Given the description of an element on the screen output the (x, y) to click on. 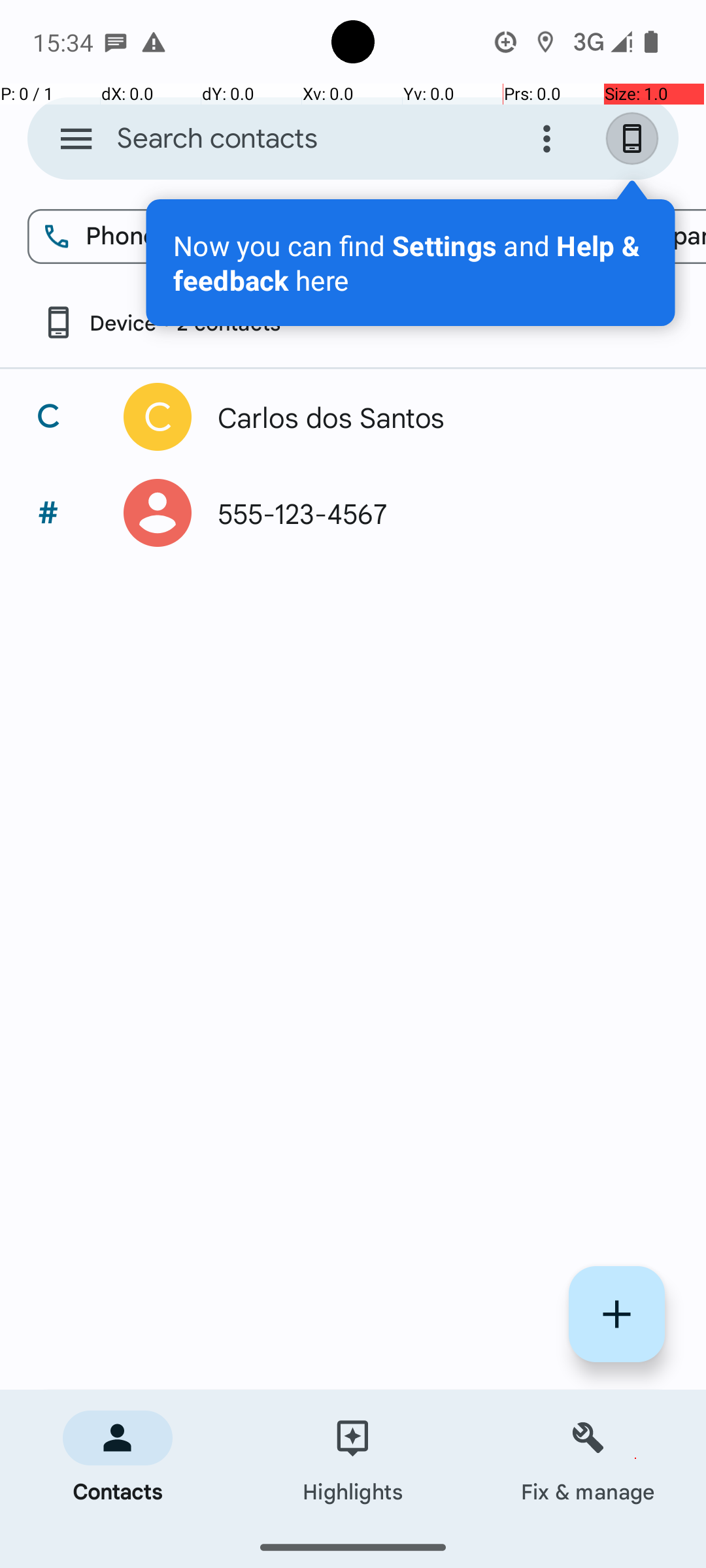
Device • 2 contacts Element type: android.widget.TextView (161, 322)
Carlos dos Santos Element type: android.widget.TextView (434, 416)
555-123-4567 Element type: android.widget.TextView (434, 512)
Now you can find Settings and Help & feedback here
Open account and settings. Element type: android.view.ViewGroup (409, 262)
Now you can find Settings and Help & feedback here Element type: android.widget.TextView (410, 262)
